Given the description of an element on the screen output the (x, y) to click on. 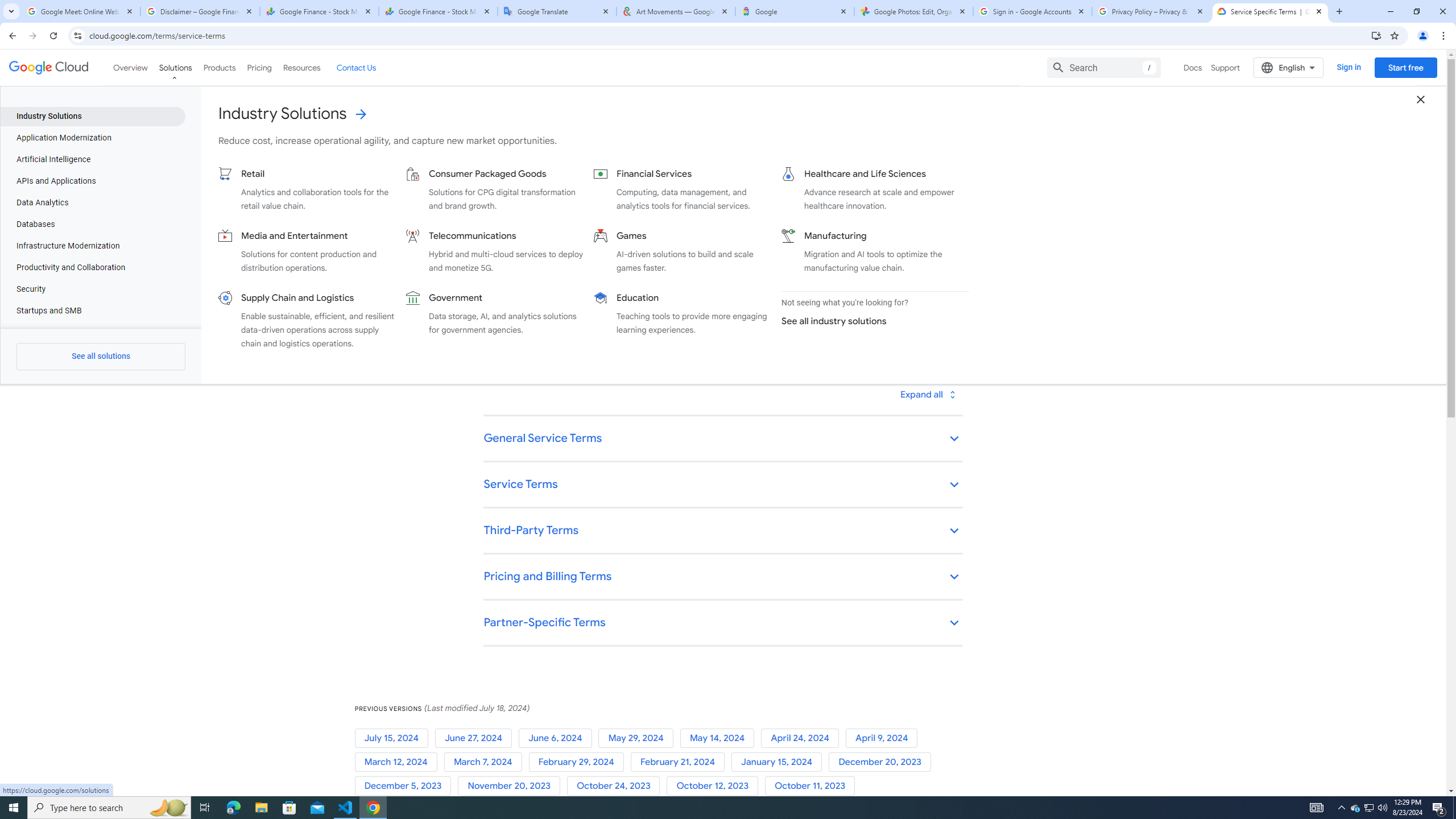
English (1288, 67)
Partner-Specific Terms keyboard_arrow_down (722, 623)
Start free (1405, 67)
Resources (301, 67)
Close dropdown menu (1420, 99)
May 14, 2024 (720, 737)
